Given the description of an element on the screen output the (x, y) to click on. 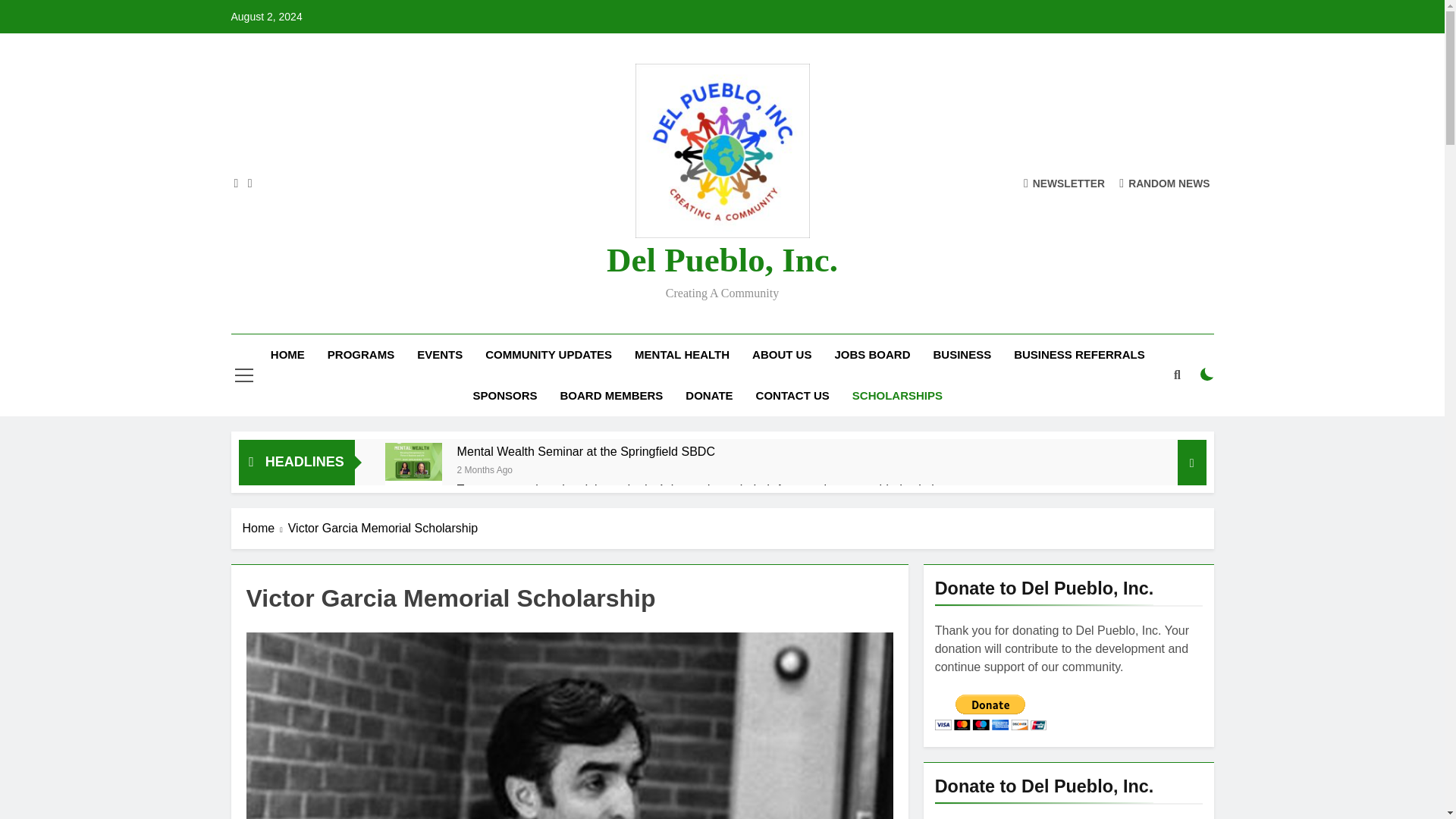
BUSINESS (962, 354)
BUSINESS REFERRALS (1079, 354)
Mental Wealth Seminar at the Springfield SBDC (413, 471)
NEWSLETTER (1064, 182)
PROGRAMS (360, 354)
CONTACT US (792, 395)
EVENTS (440, 354)
2 Months Ago (484, 468)
BOARD MEMBERS (611, 395)
HOME (287, 354)
Del Pueblo, Inc. (722, 259)
Mental Wealth Seminar at the Springfield SBDC (585, 451)
SPONSORS (504, 395)
COMMUNITY UPDATES (548, 354)
RANDOM NEWS (1164, 182)
